Given the description of an element on the screen output the (x, y) to click on. 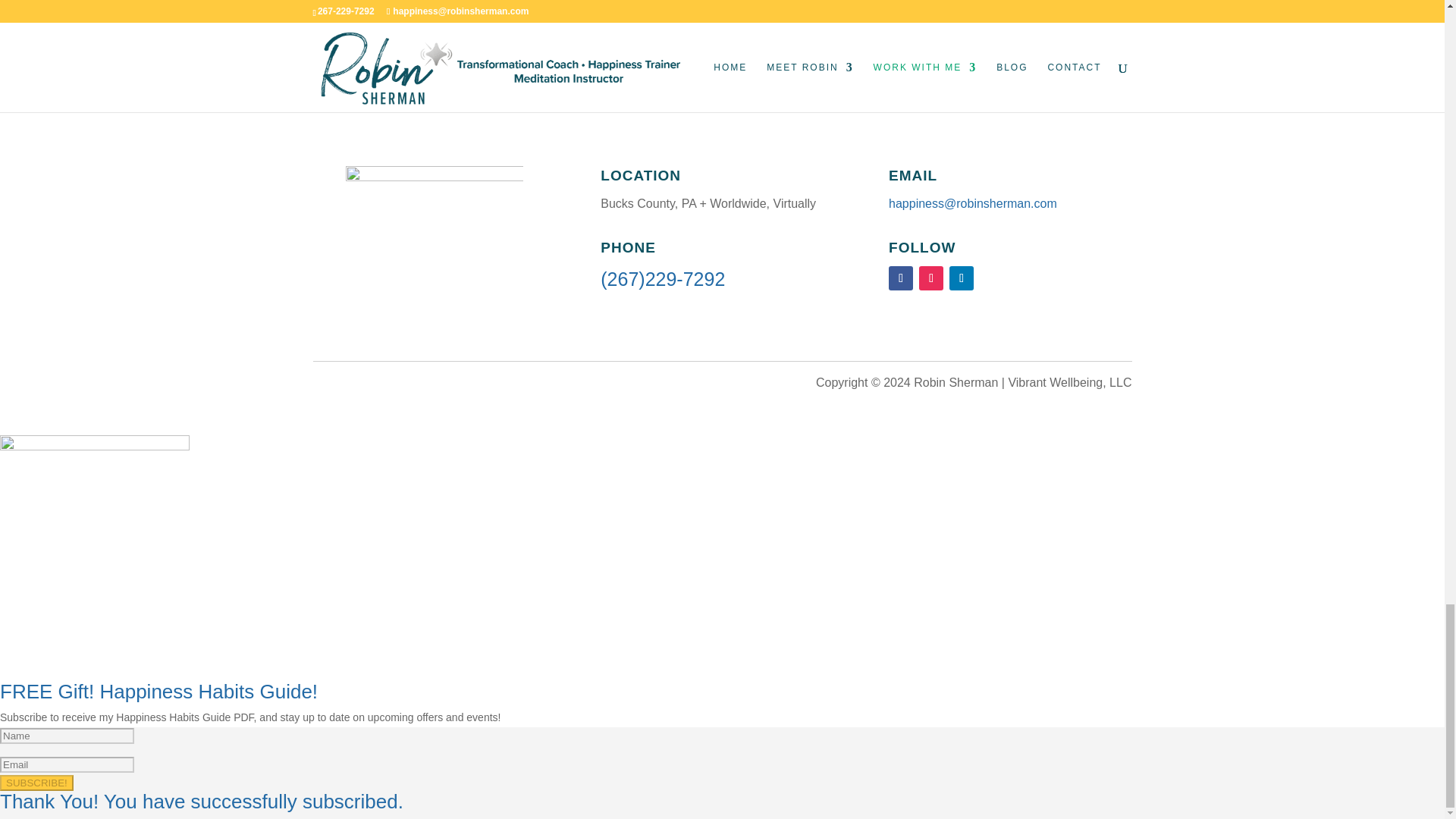
SUBSCRIBE! (37, 782)
Follow on Instagram (930, 278)
Follow on LinkedIn (961, 278)
Follow on Facebook (900, 278)
RSBadge (434, 253)
